Given the description of an element on the screen output the (x, y) to click on. 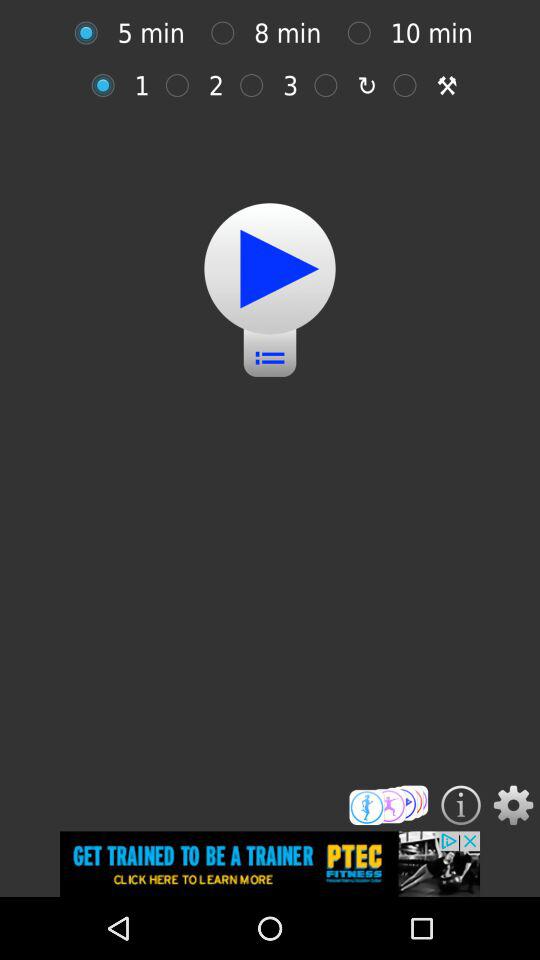
health fitness timer (91, 32)
